Given the description of an element on the screen output the (x, y) to click on. 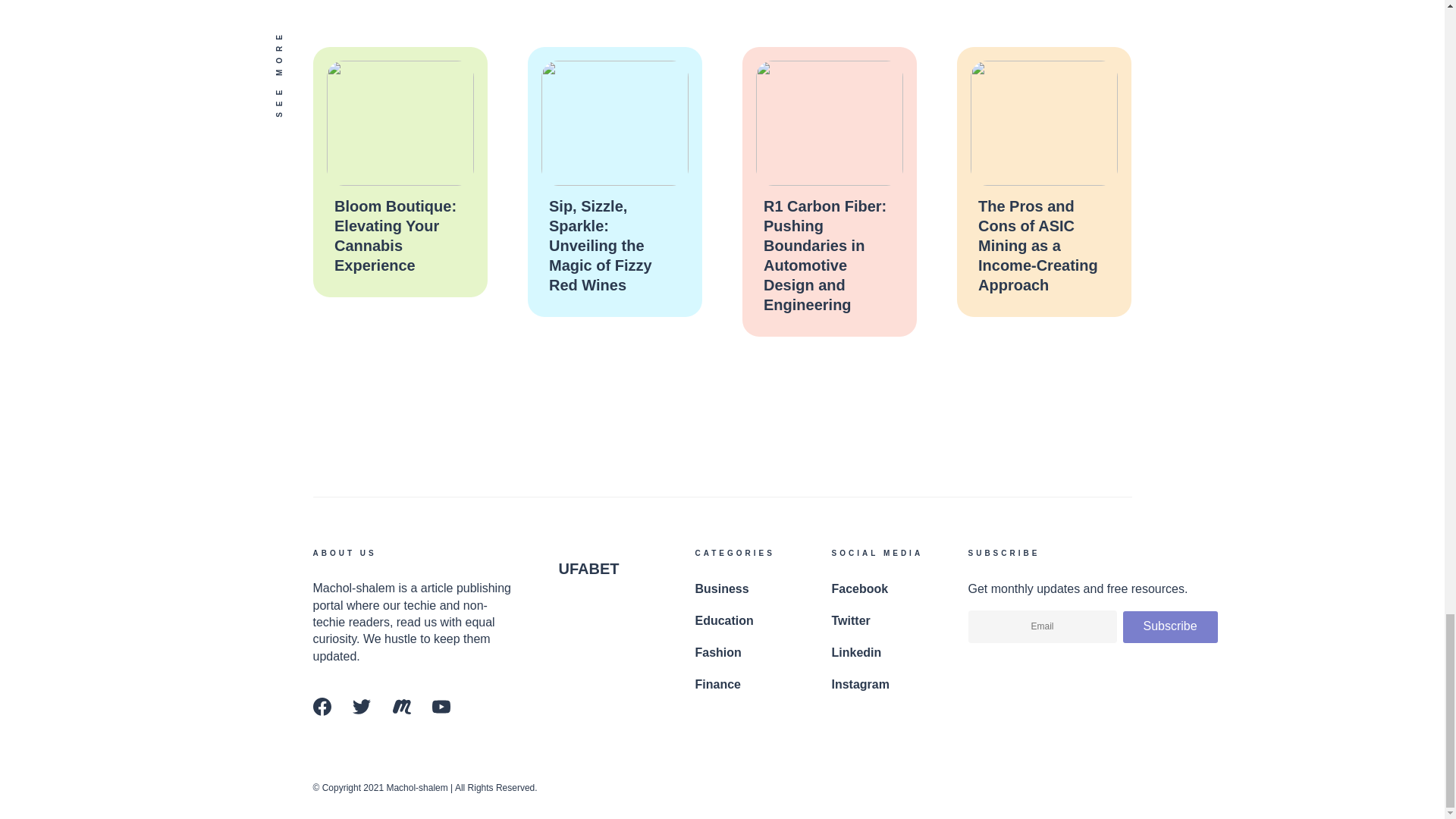
Bloom Boutique: Elevating Your Cannabis Experience (394, 235)
Sip, Sizzle, Sparkle: Unveiling the Magic of Fizzy Red Wines (600, 245)
